Given the description of an element on the screen output the (x, y) to click on. 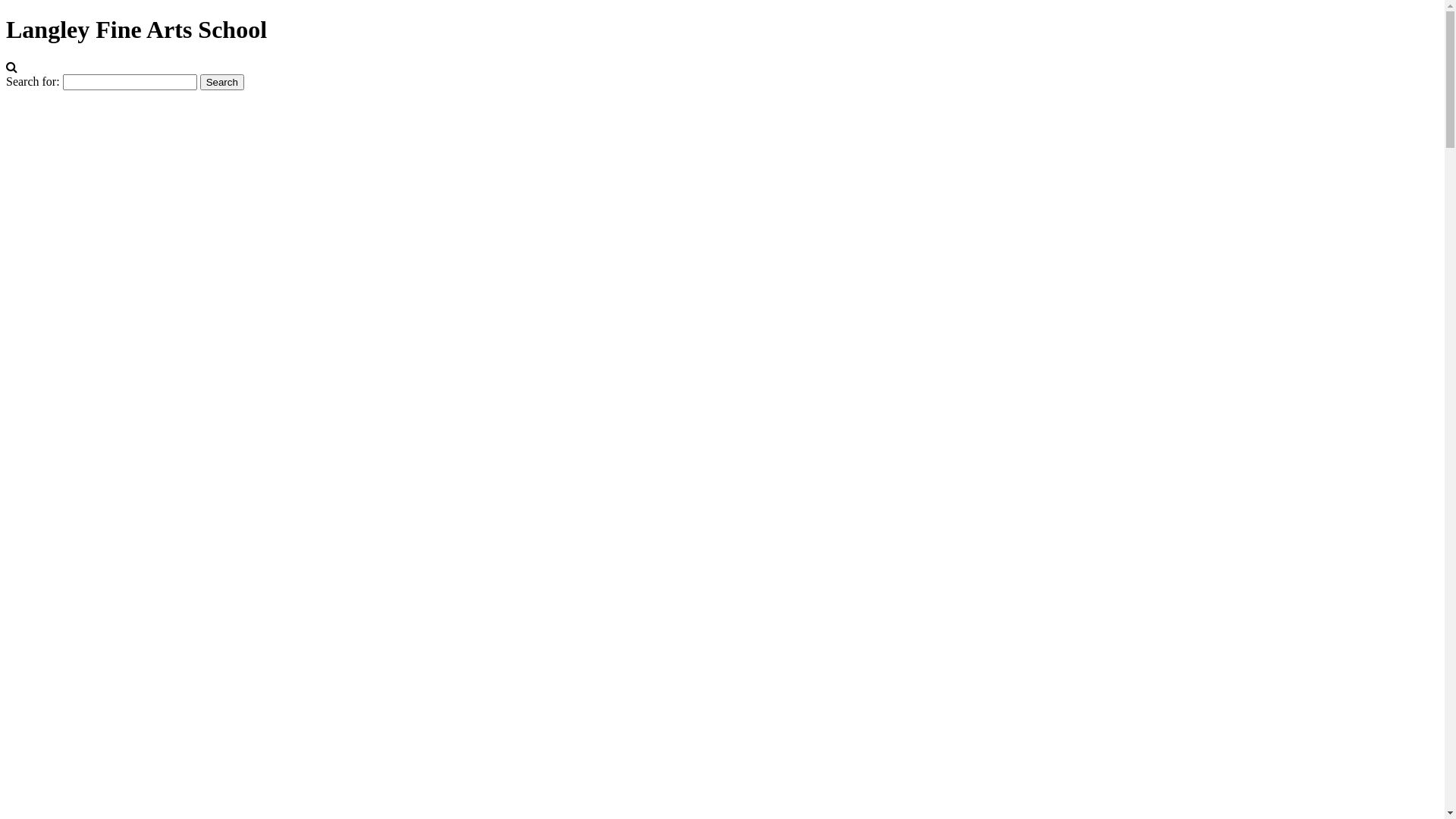
Search Element type: text (222, 82)
